Given the description of an element on the screen output the (x, y) to click on. 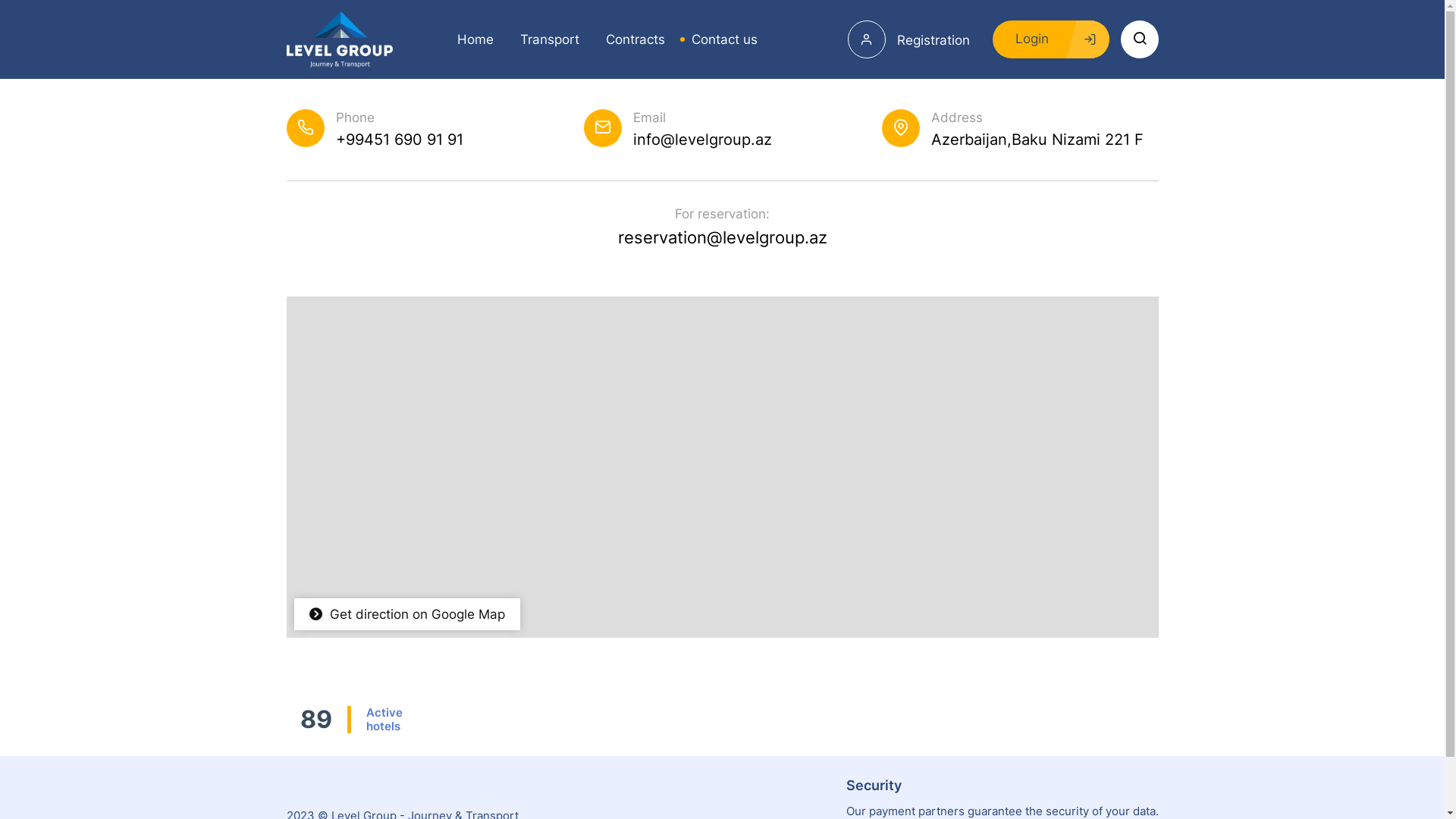
Contact us Element type: text (717, 39)
Contracts Element type: text (629, 39)
info@levelgroup.az Element type: text (702, 139)
Registration Element type: text (908, 39)
Home Element type: text (469, 39)
Get direction on Google Map Element type: text (407, 614)
Transport Element type: text (543, 39)
+99451 690 91 91 Element type: text (398, 139)
Login Element type: text (1049, 39)
